Given the description of an element on the screen output the (x, y) to click on. 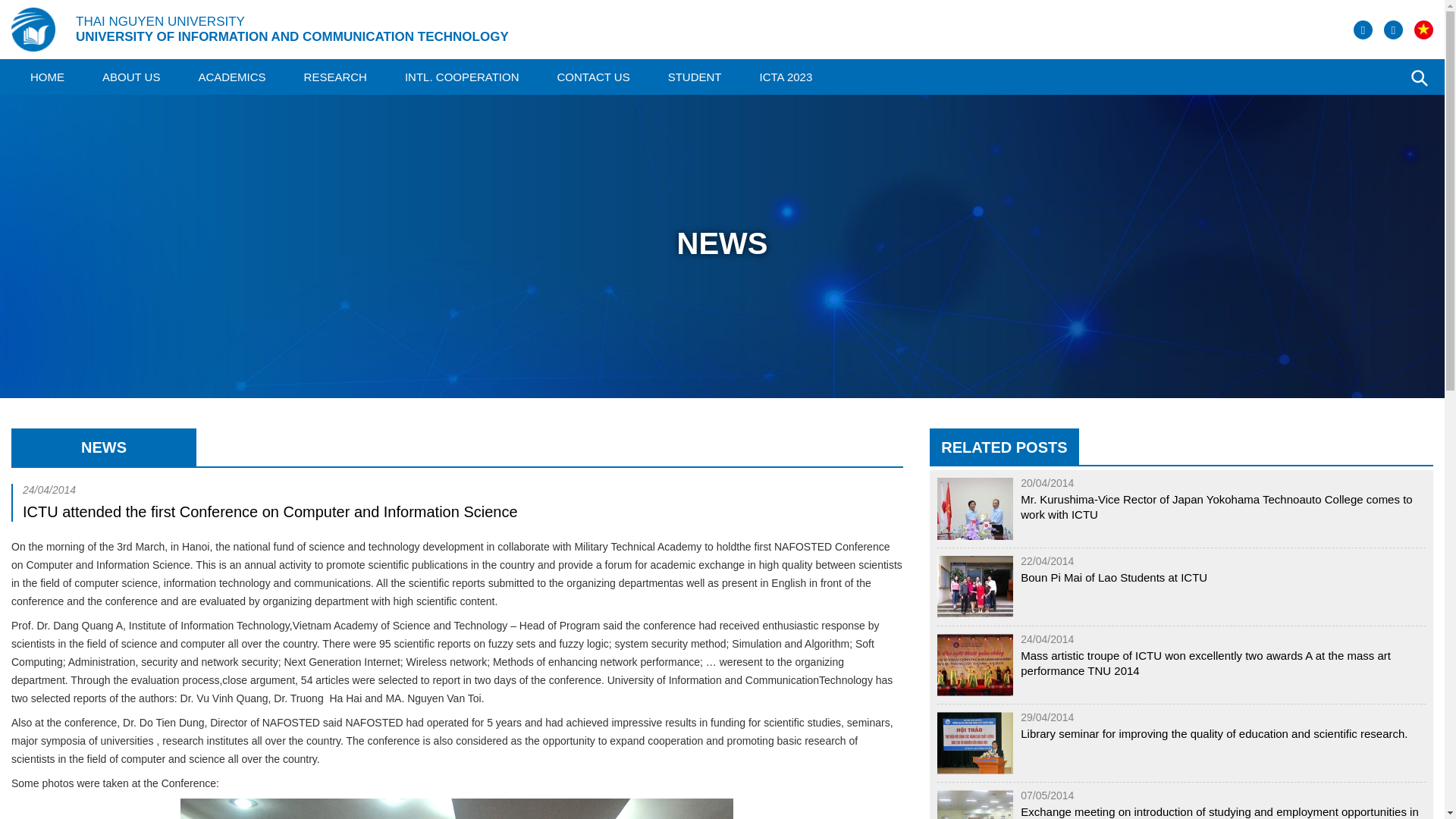
RESEARCH (335, 76)
ACADEMICS (231, 76)
INTL. COOPERATION (461, 76)
HOME (46, 76)
ABOUT US (130, 76)
ICTA 2023 (785, 76)
Boun Pi Mai of Lao Students at ICTU (1113, 577)
